Given the description of an element on the screen output the (x, y) to click on. 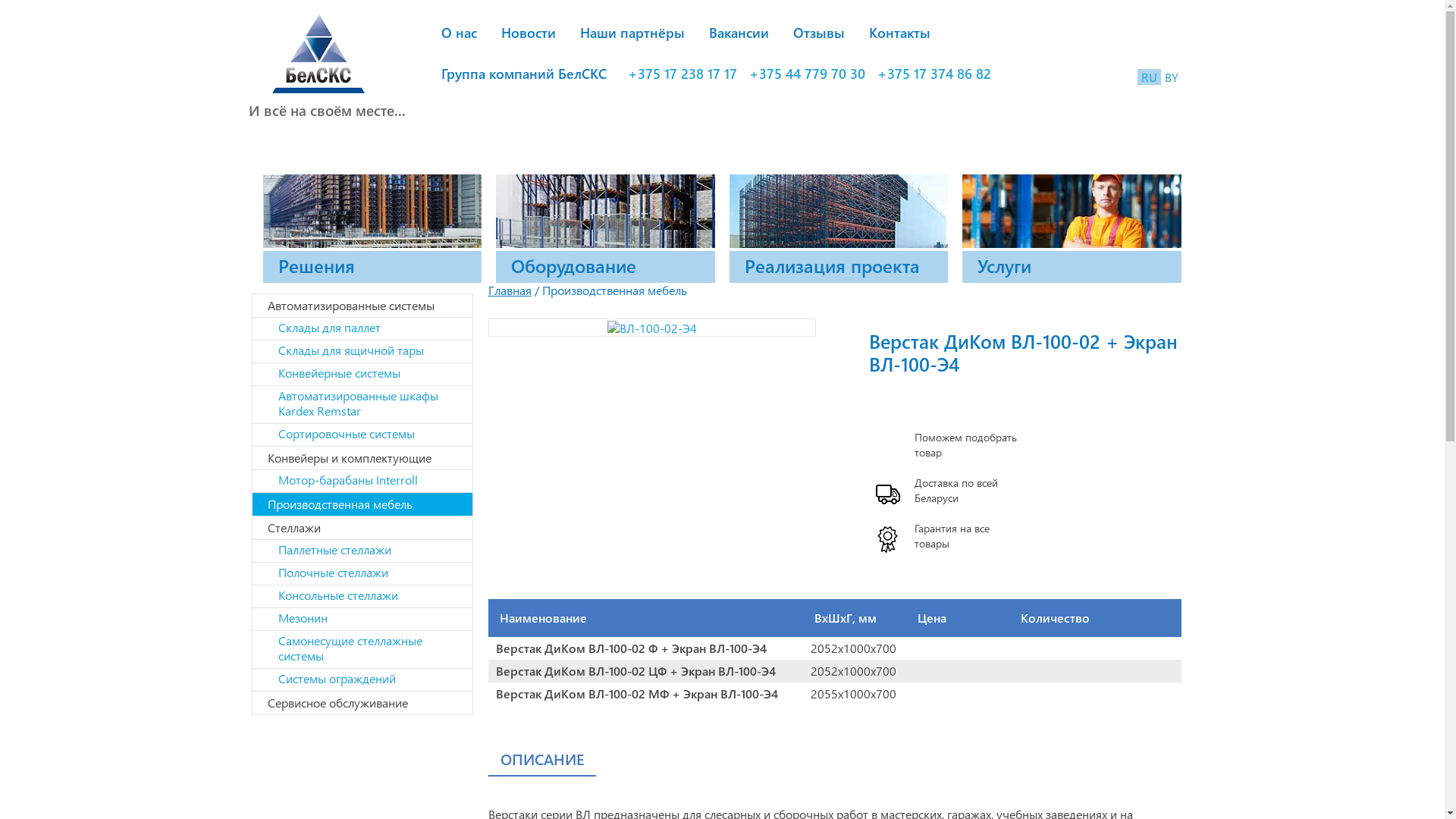
+375 44 779 70 30 Element type: text (807, 73)
+375 17 238 17 17 Element type: text (682, 73)
BY Element type: text (1171, 76)
+375 17 374 86 82 Element type: text (934, 73)
RU Element type: text (1149, 76)
